Given the description of an element on the screen output the (x, y) to click on. 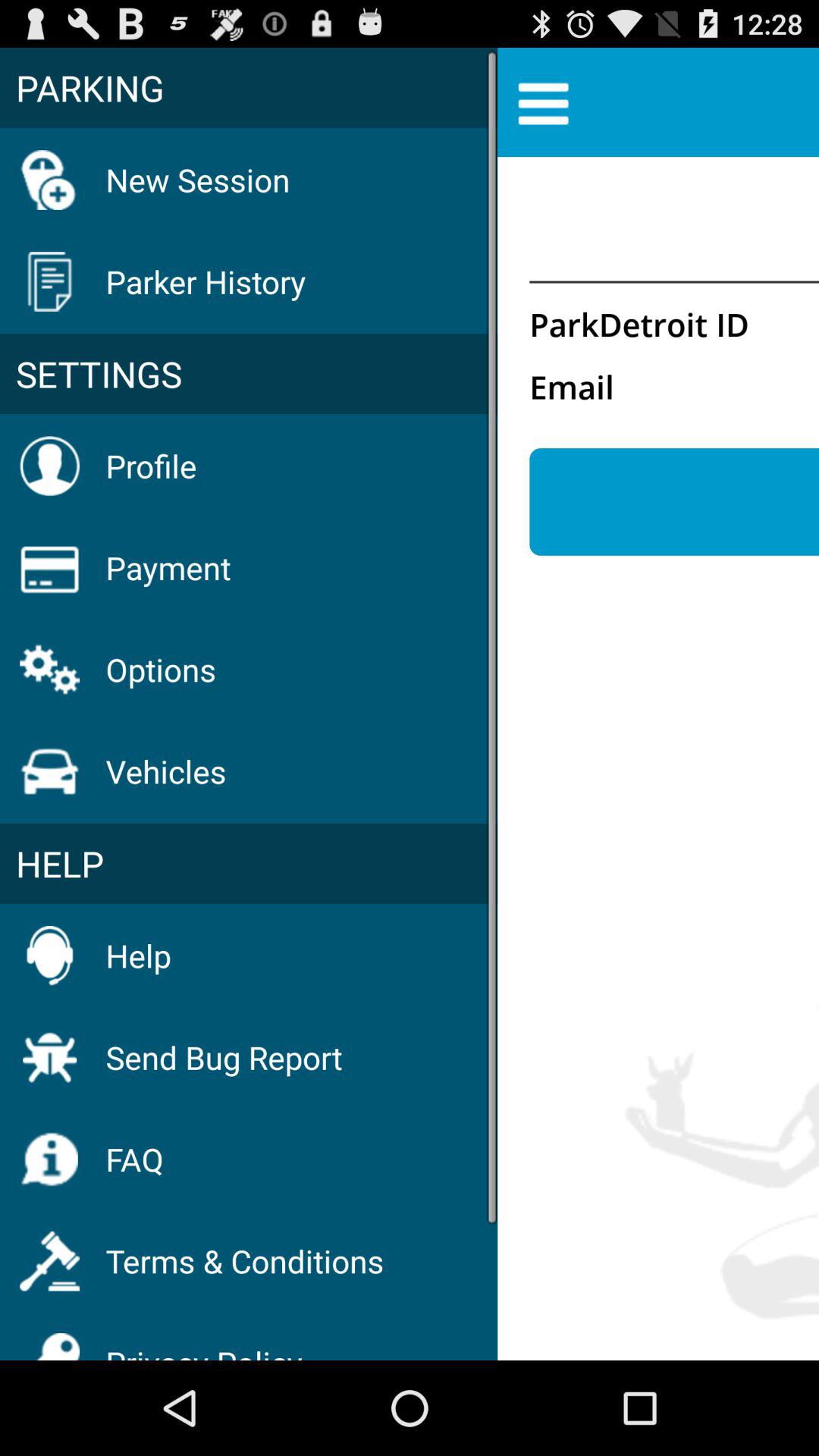
turn off the button on the right (674, 501)
